Given the description of an element on the screen output the (x, y) to click on. 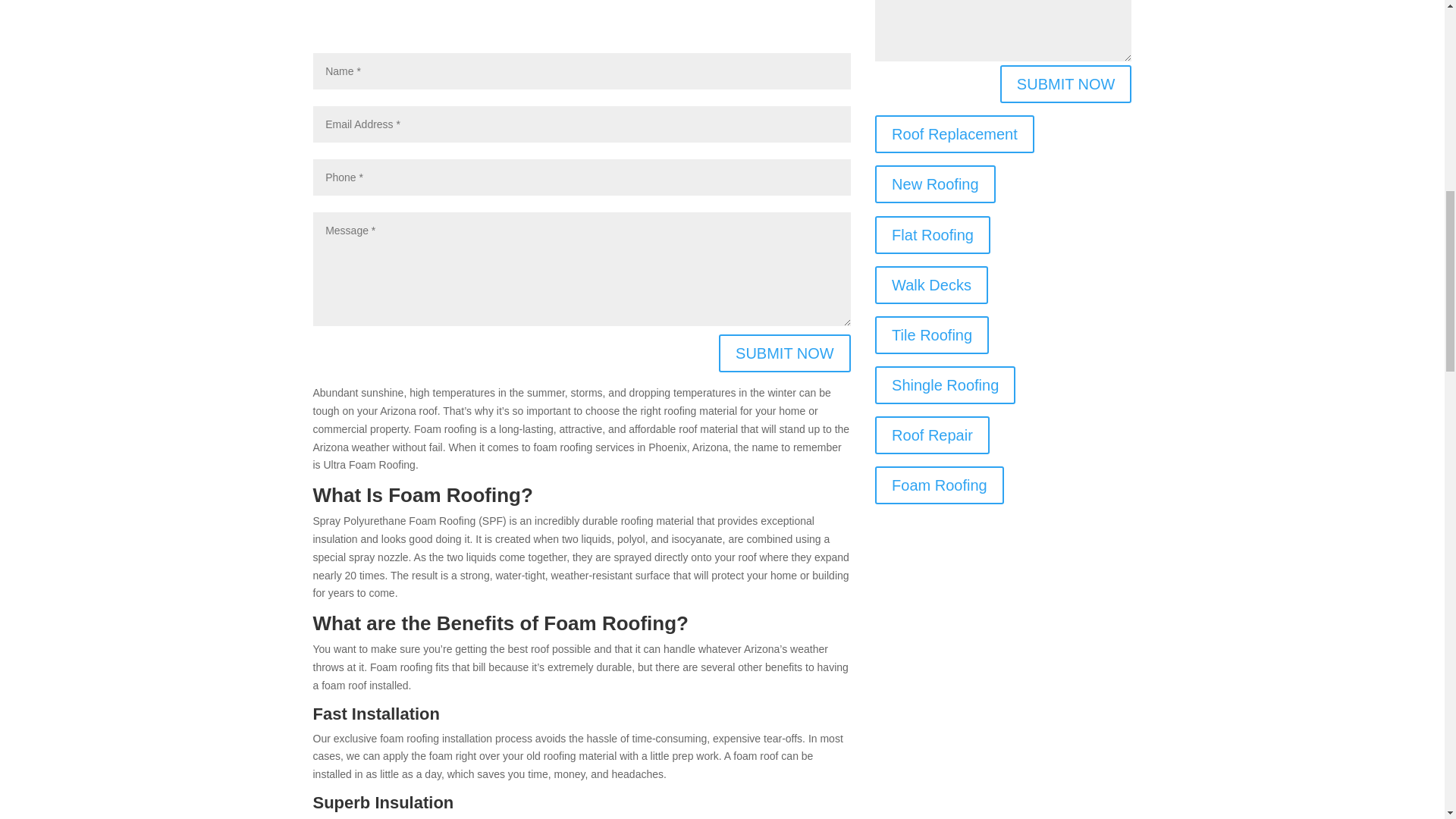
foam roofing contractor (581, 20)
SUBMIT NOW (784, 353)
Flat Roofing (932, 234)
Foam Roofing (939, 485)
Only numbers allowed. (581, 176)
Roof Replacement (954, 134)
New Roofing (935, 184)
Tile Roofing (931, 334)
Walk Decks (931, 284)
SUBMIT NOW (1066, 84)
Shingle Roofing (944, 385)
Roof Repair (932, 435)
